Given the description of an element on the screen output the (x, y) to click on. 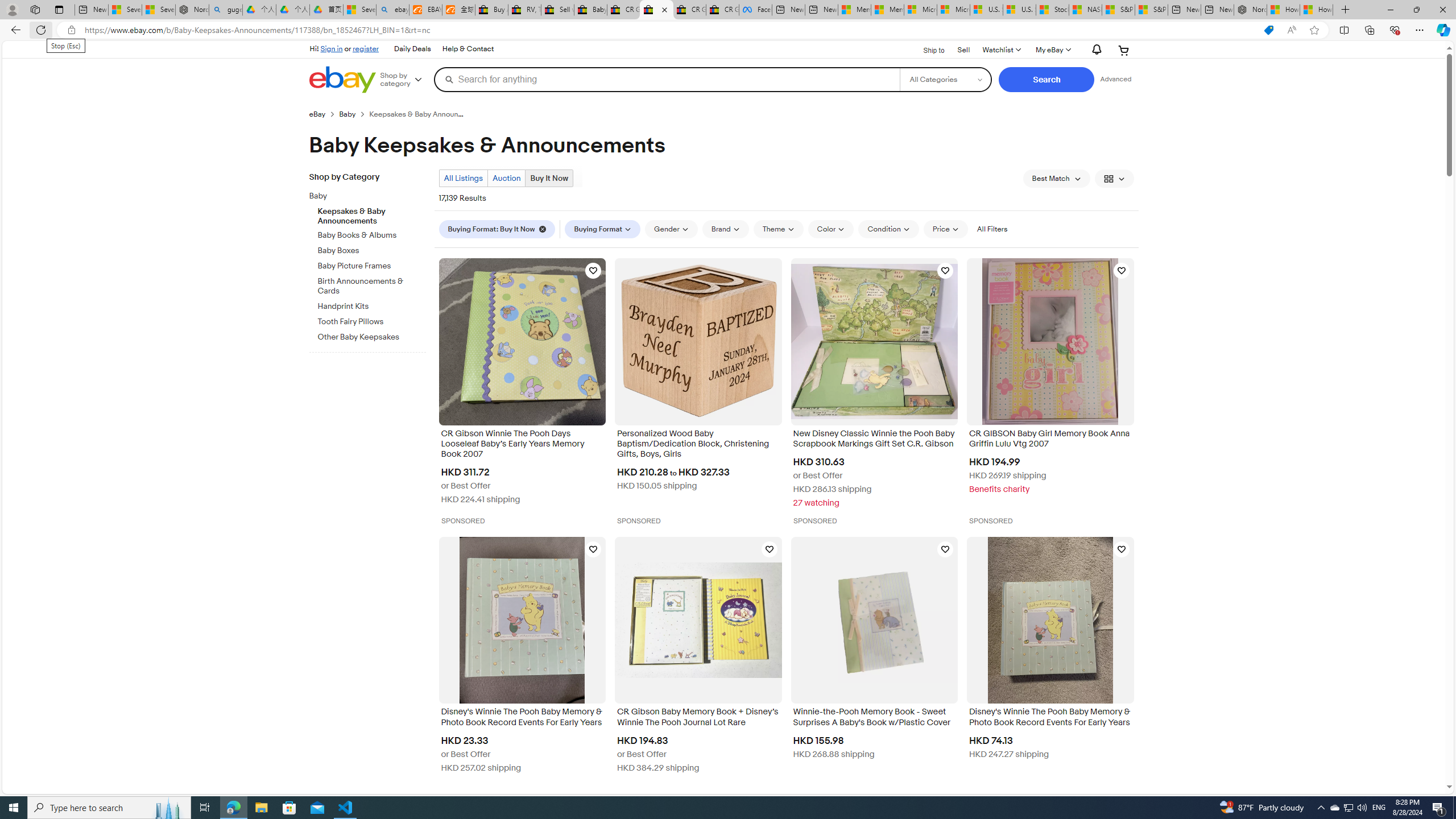
Brand (724, 229)
Expand Cart (1123, 49)
App bar (728, 29)
Daily Deals (411, 49)
Collections (1369, 29)
S&P 500, Nasdaq end lower, weighed by Nvidia dip | Watch (1150, 9)
AutomationID: gh-eb-Alerts (1094, 49)
Price (945, 229)
Color (831, 229)
Sign in (331, 48)
Baby Books & Albums (371, 233)
Other Baby Keepsakes (371, 335)
Address and search bar (669, 29)
